Given the description of an element on the screen output the (x, y) to click on. 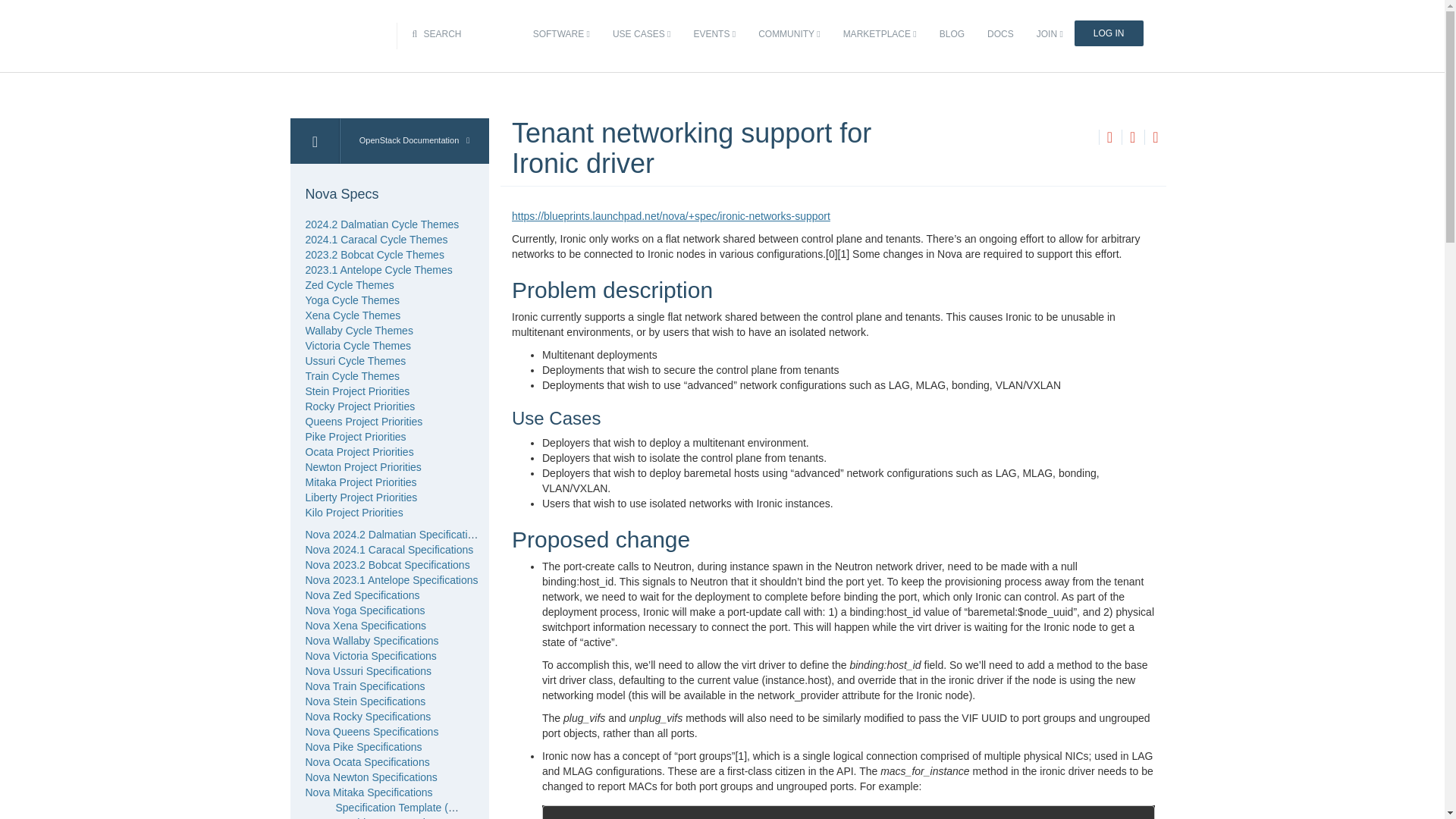
SOFTWARE (561, 34)
MARKETPLACE (879, 34)
USE CASES (641, 34)
Found an error? Report a bug against this page (1155, 138)
Report a Bug (1155, 136)
EVENTS (713, 34)
COMMUNITY (788, 34)
Previous: Ironic: Multiple compute host support (1108, 136)
